Given the description of an element on the screen output the (x, y) to click on. 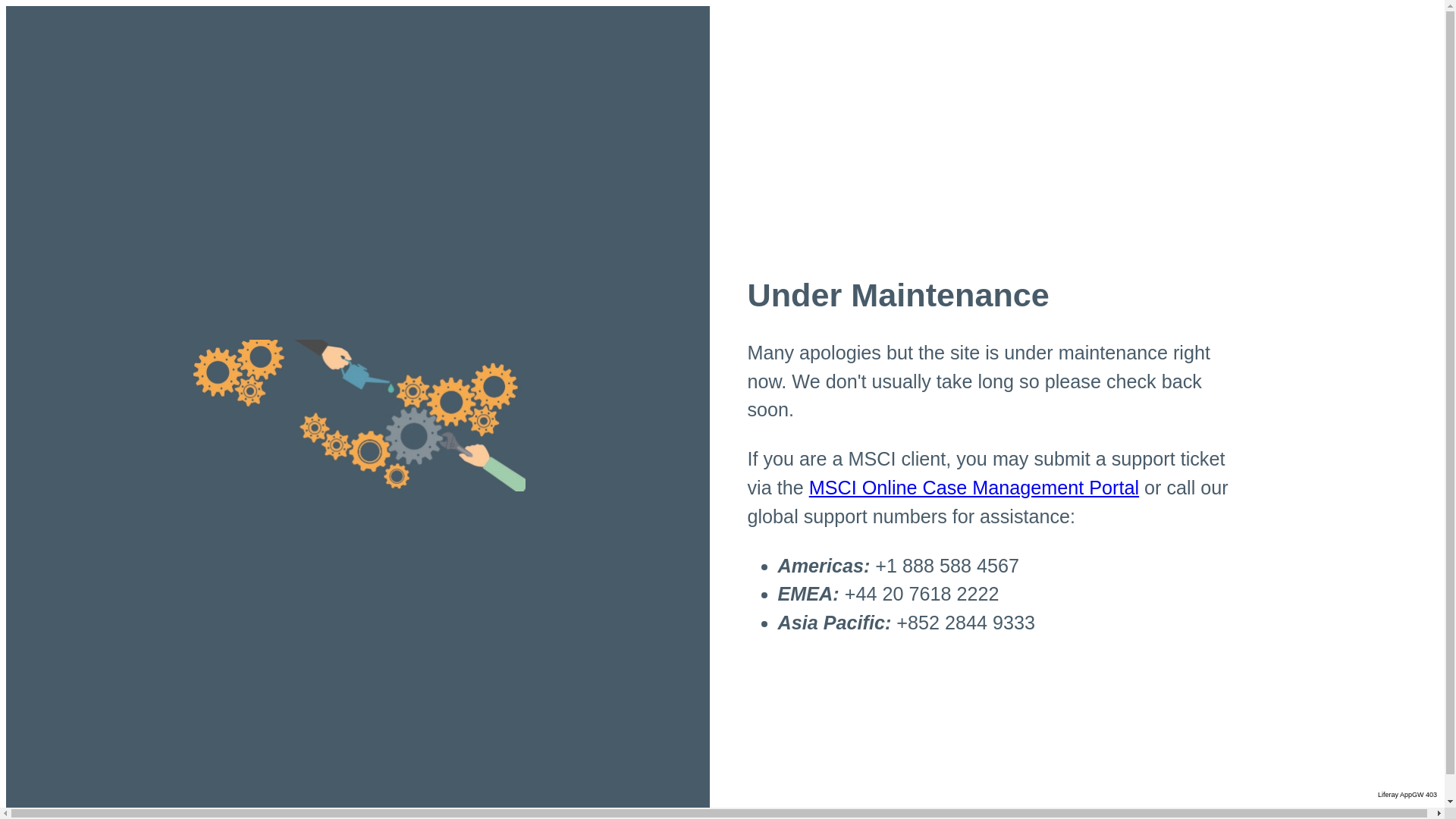
MSCI Online Case Management Portal (973, 486)
